Given the description of an element on the screen output the (x, y) to click on. 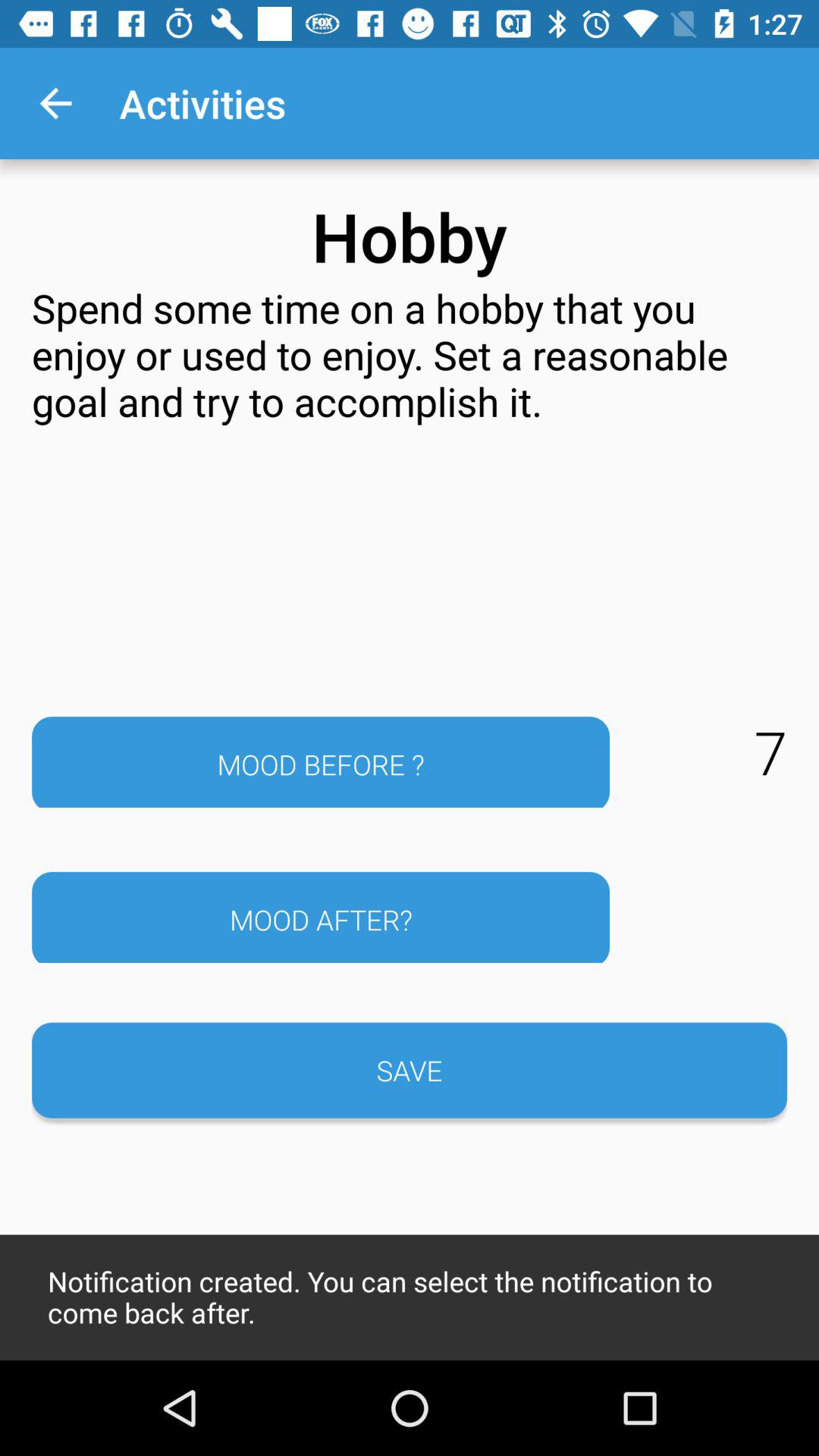
press app above notification created you item (409, 1070)
